Given the description of an element on the screen output the (x, y) to click on. 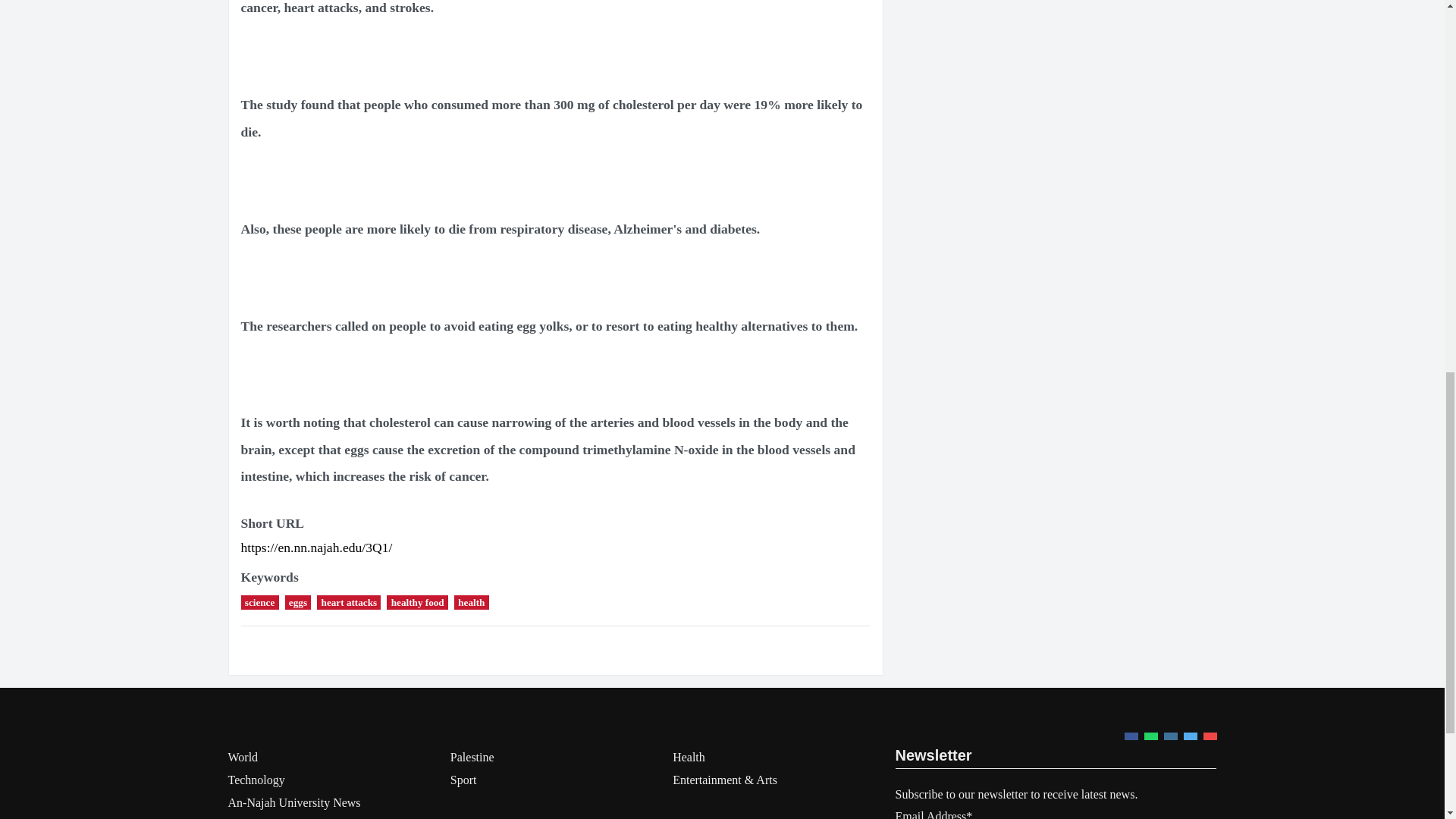
eggs (298, 602)
science (260, 602)
heart attacks (348, 602)
healthy food (417, 602)
eggs (298, 602)
science (260, 602)
